Given the description of an element on the screen output the (x, y) to click on. 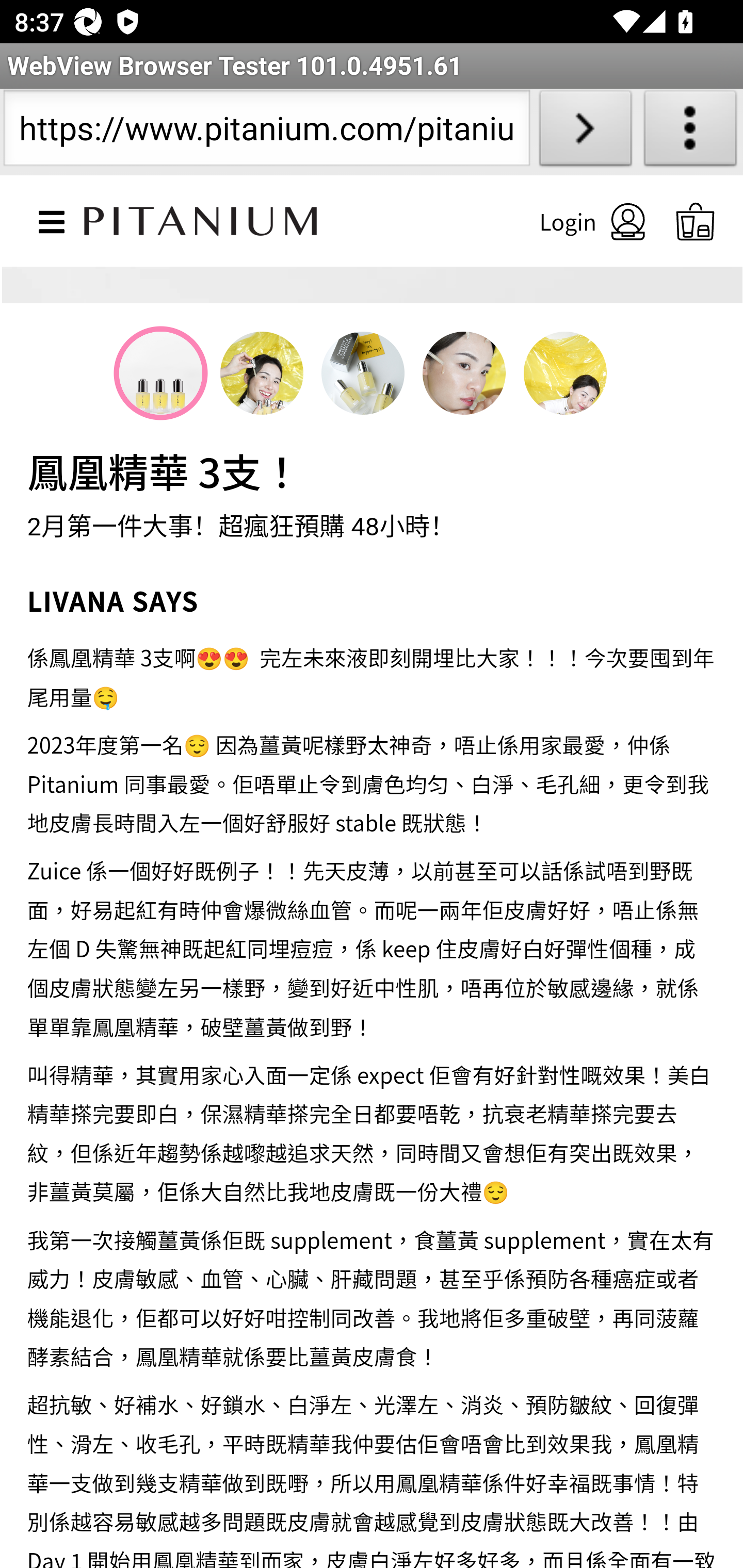
Load URL (585, 132)
About WebView (690, 132)
Login Account (575, 220)
shopping bag (695, 220)
Brand Logo (201, 216)
